Given the description of an element on the screen output the (x, y) to click on. 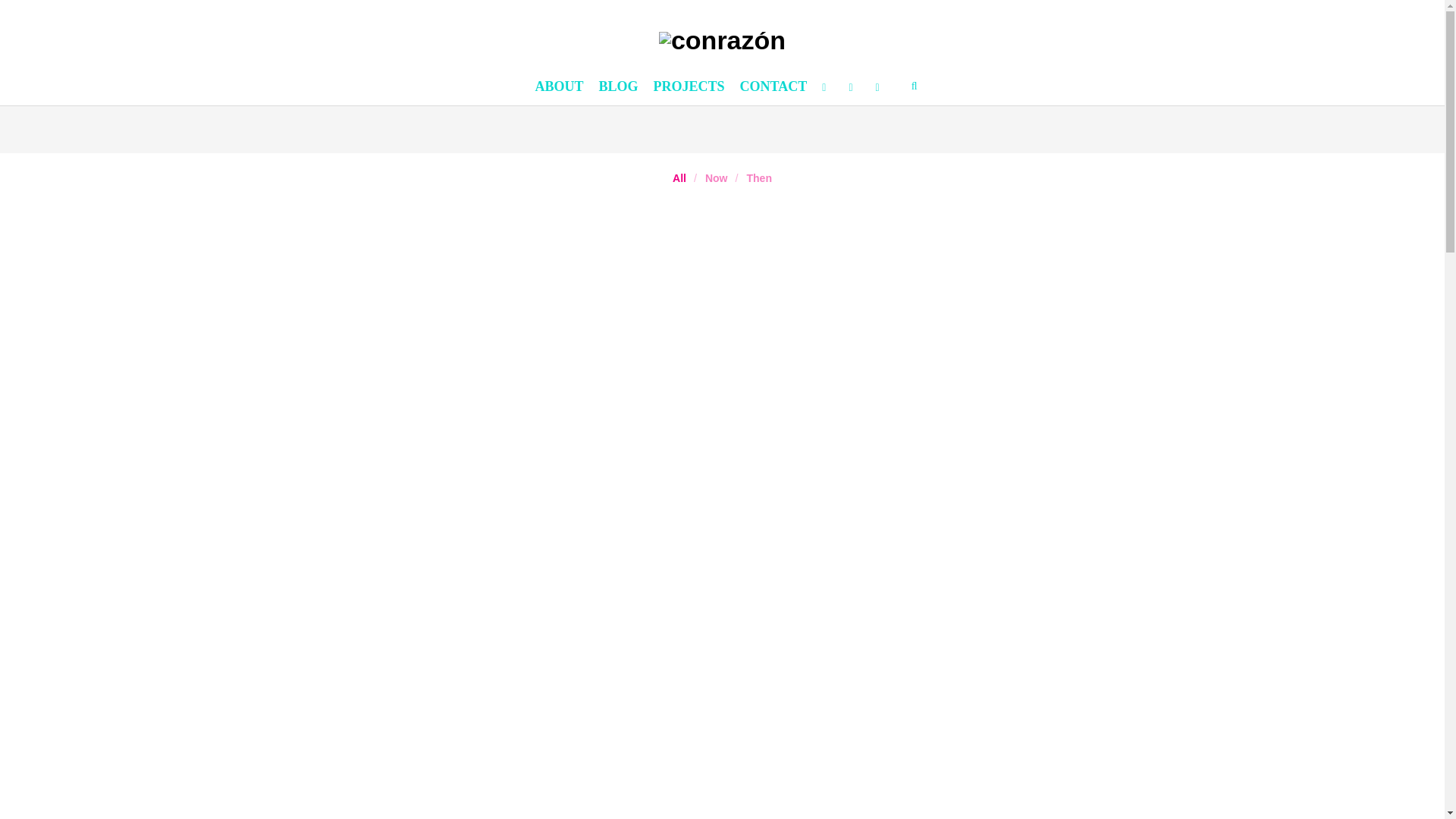
PROJECTS (689, 86)
BLOG (618, 86)
Then (758, 177)
All (678, 177)
CONTACT (773, 86)
ABOUT (559, 86)
Now (716, 177)
